Given the description of an element on the screen output the (x, y) to click on. 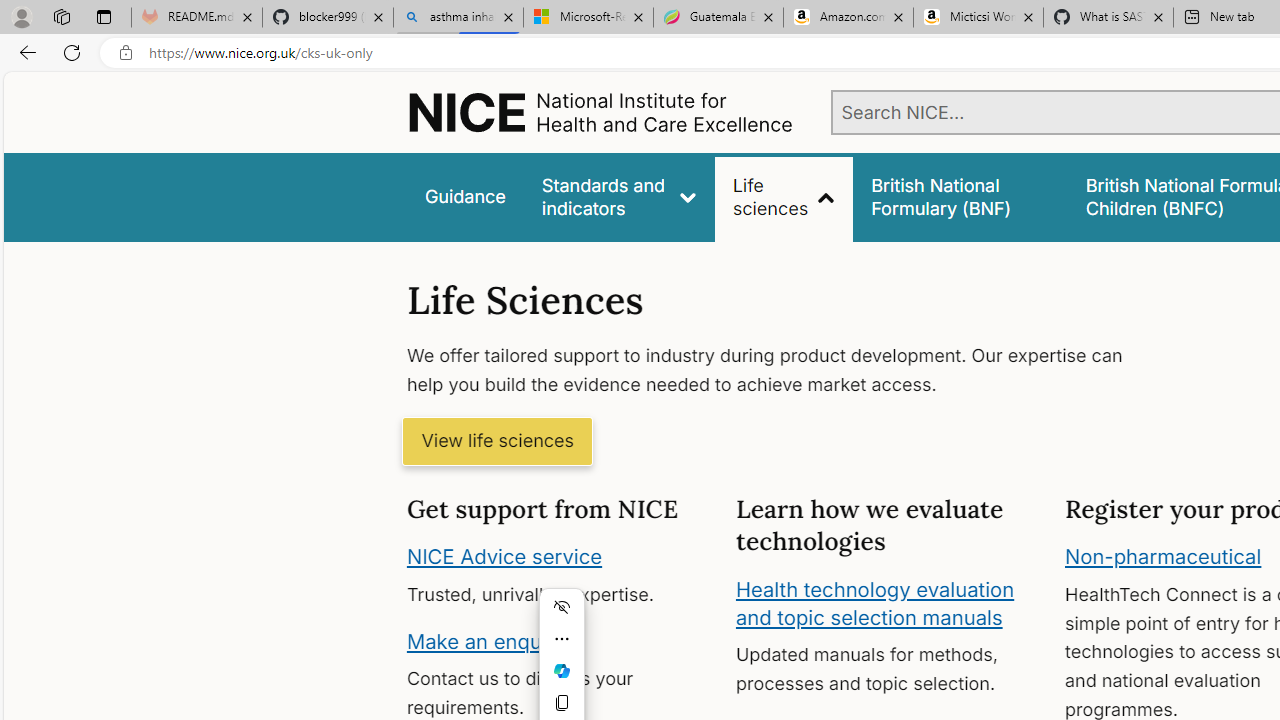
Life sciences (783, 196)
More actions (561, 638)
Make an enquiry (486, 640)
Hide menu (561, 606)
Non-pharmaceutical (1163, 557)
Copy (561, 702)
Guidance (464, 196)
